Given the description of an element on the screen output the (x, y) to click on. 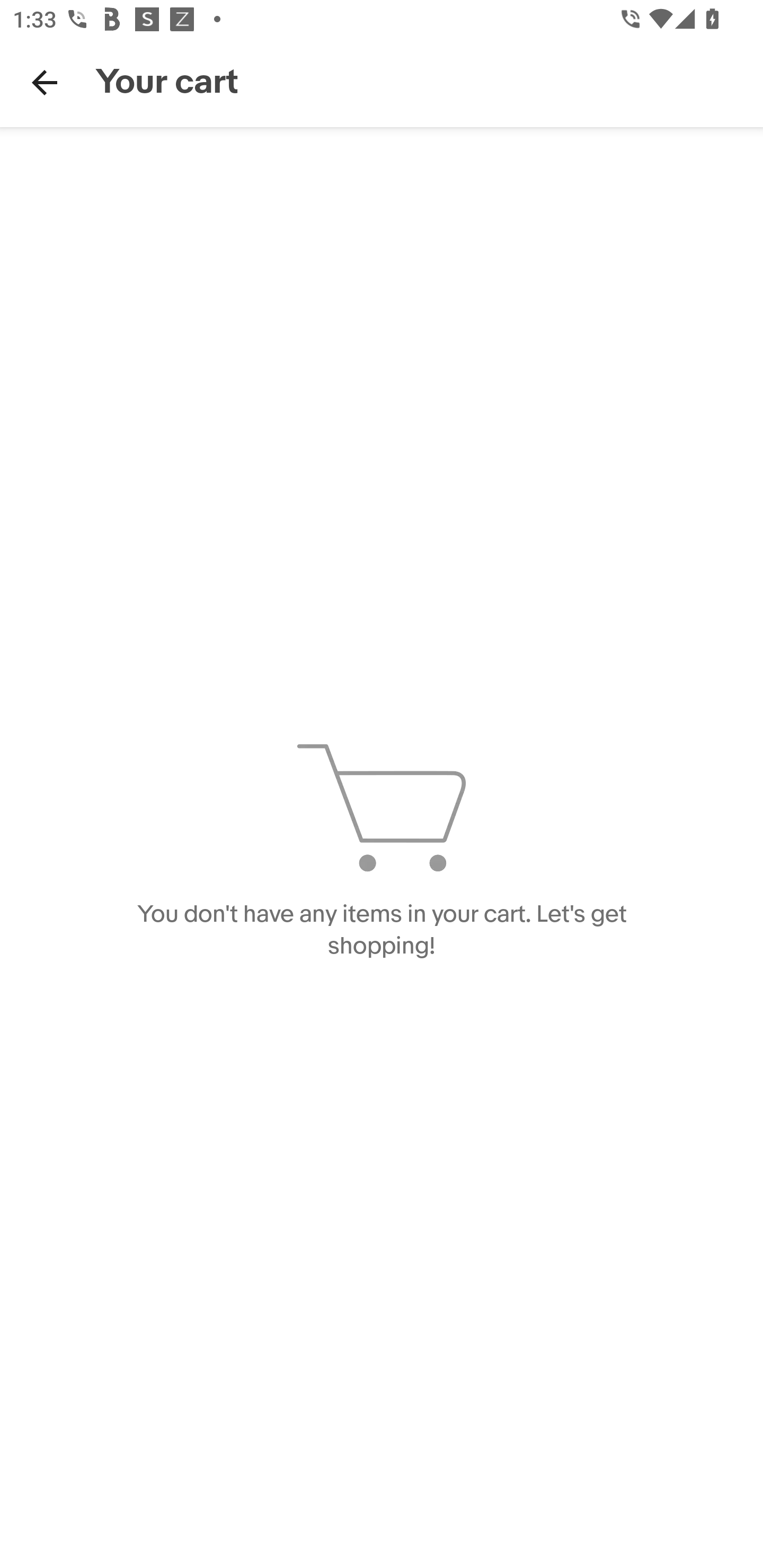
Navigate up (44, 82)
